Given the description of an element on the screen output the (x, y) to click on. 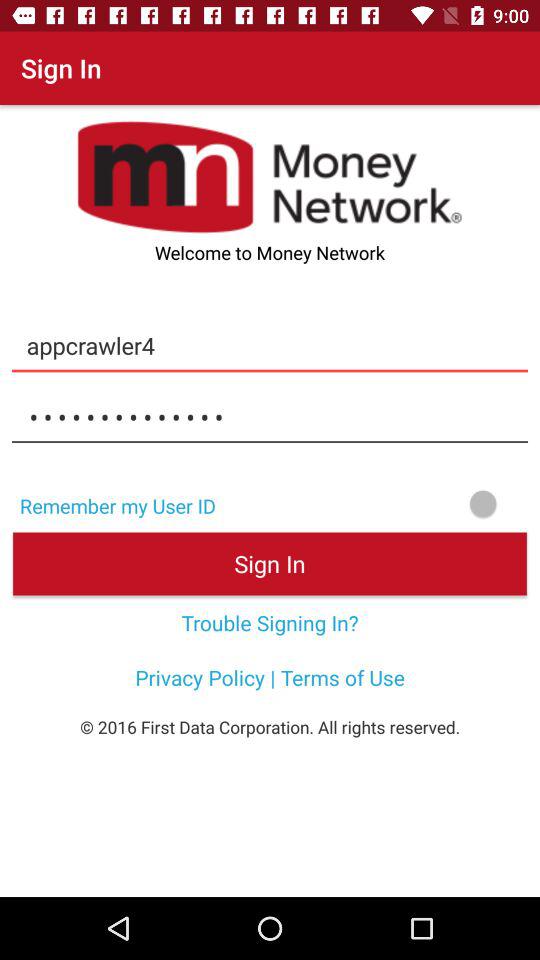
tap the icon below appcrawler4 item (269, 417)
